Given the description of an element on the screen output the (x, y) to click on. 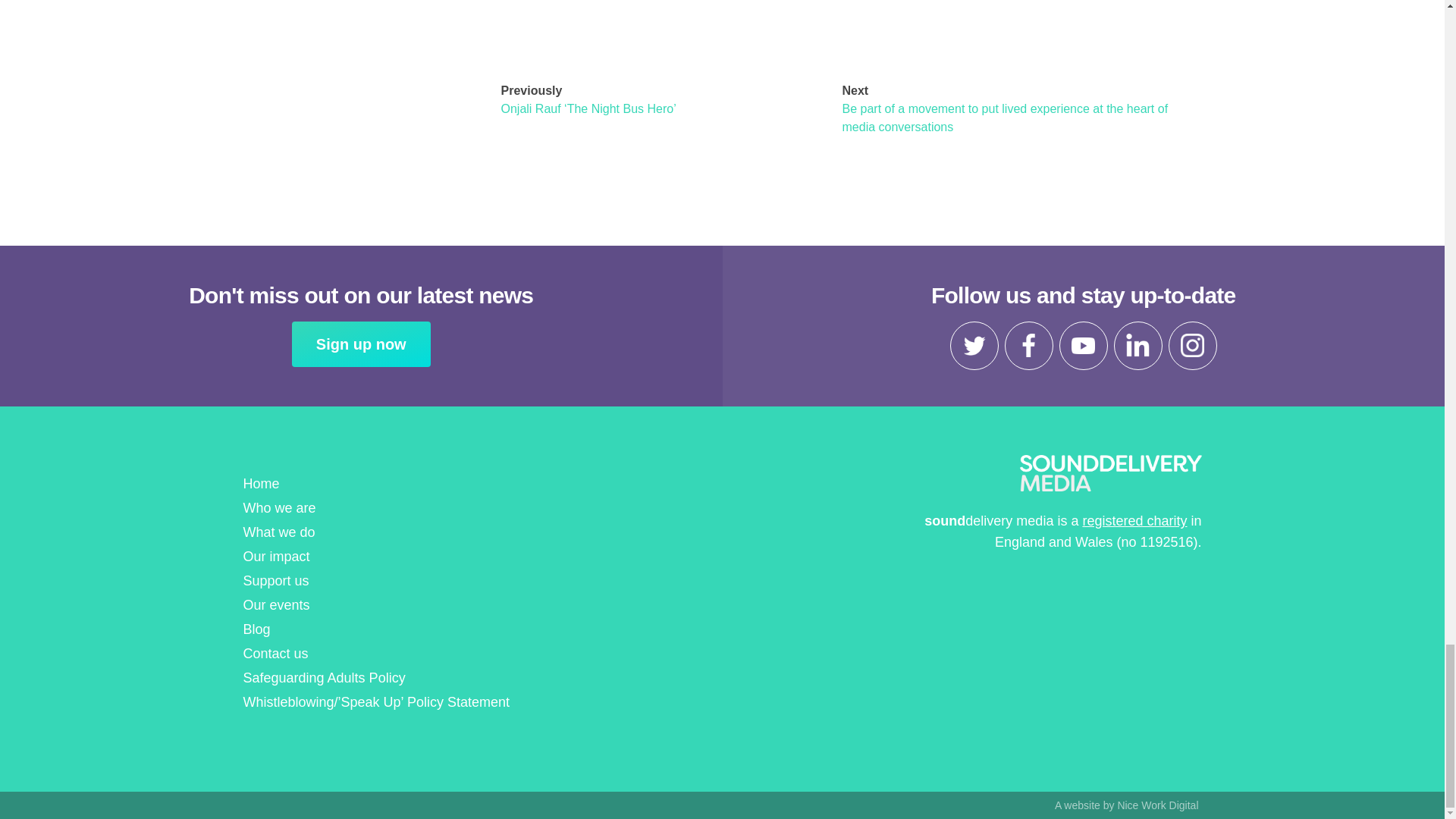
Comment Form (841, 22)
